Given the description of an element on the screen output the (x, y) to click on. 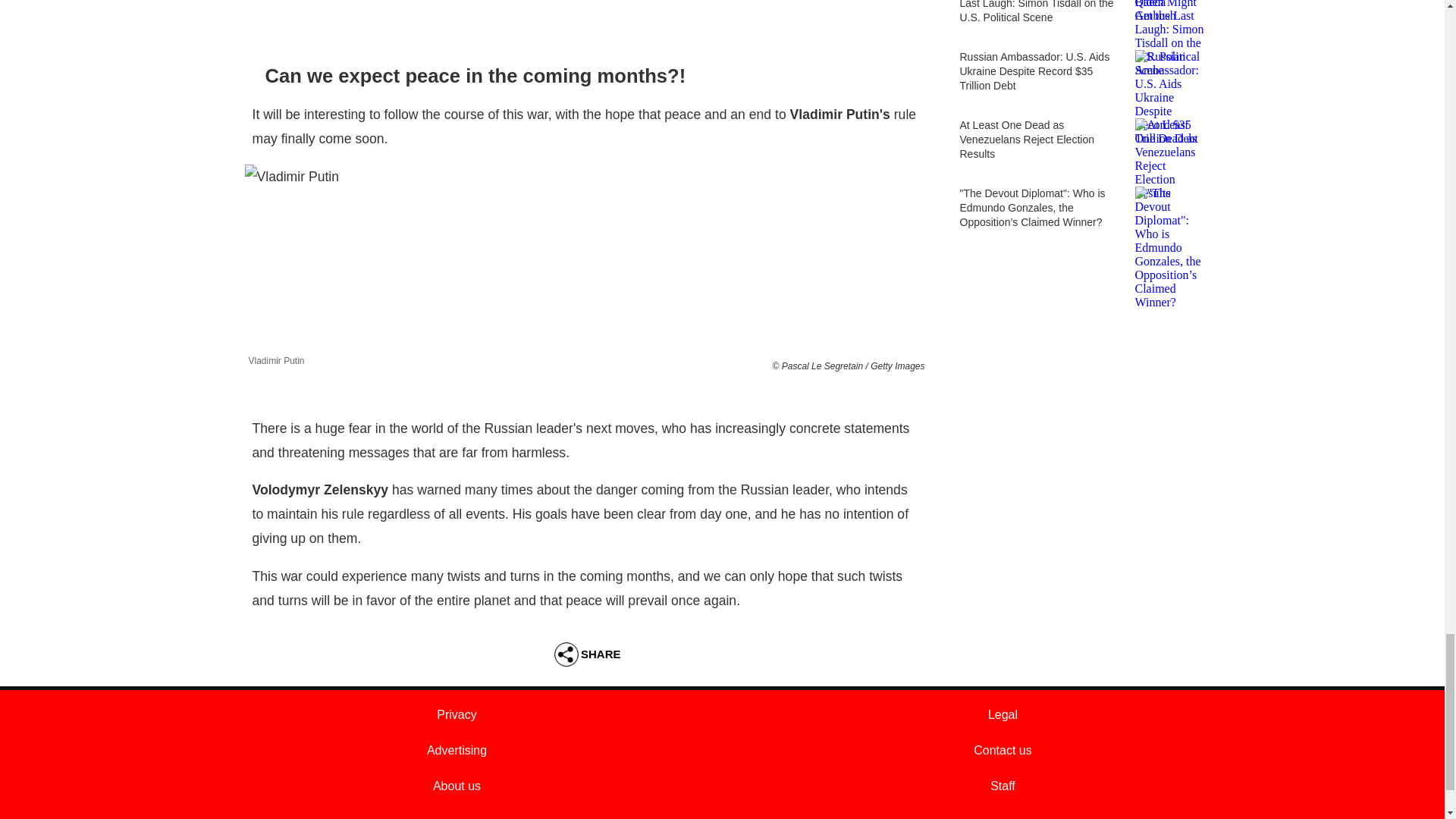
Privacy (456, 714)
